Given the description of an element on the screen output the (x, y) to click on. 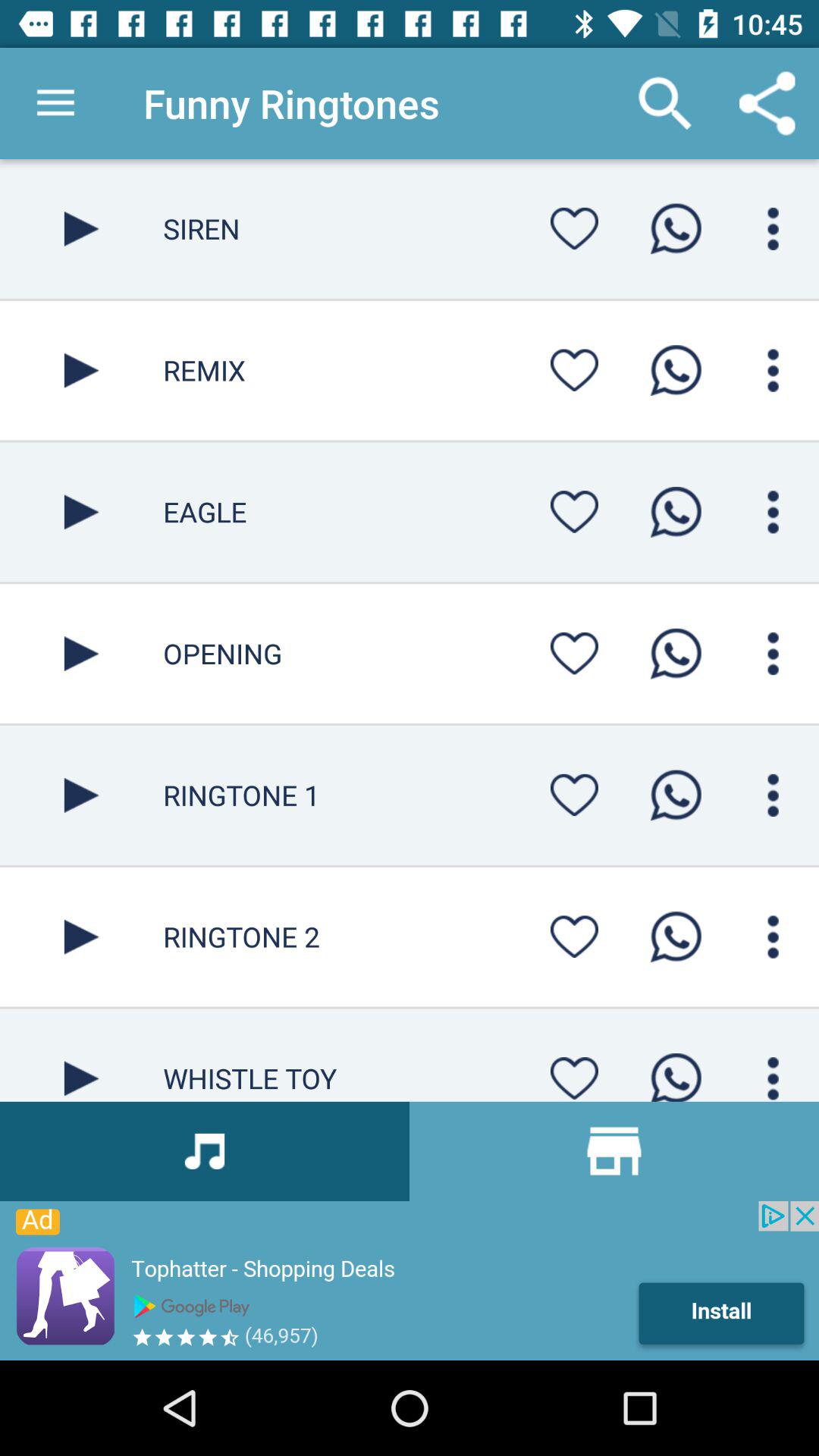
more details (773, 653)
